Given the description of an element on the screen output the (x, y) to click on. 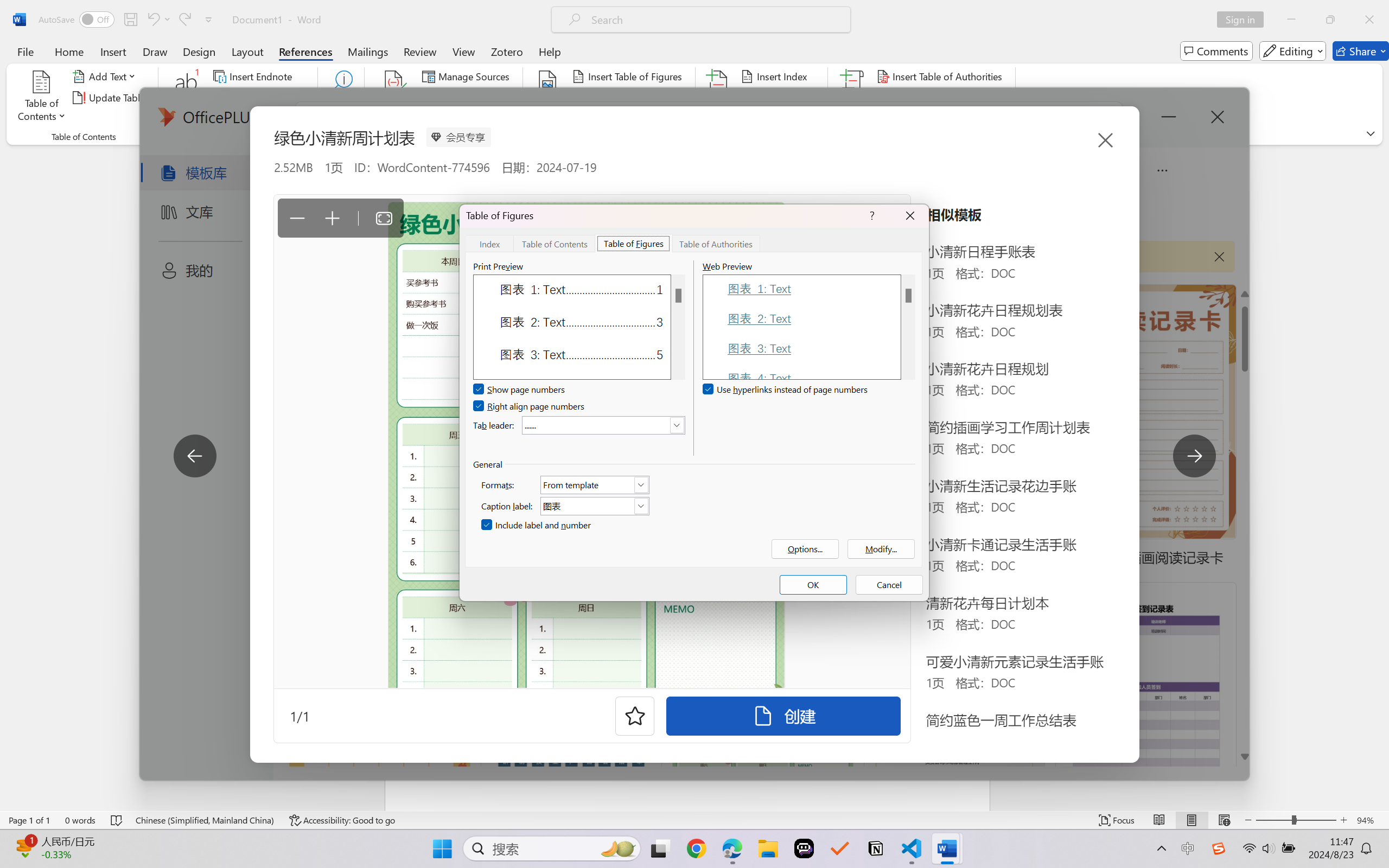
Tab leader: (603, 424)
Insert Footnote (186, 97)
Update Table... (110, 97)
Mark Entry... (718, 97)
Insert Table of Authorities... (941, 75)
Search (341, 97)
Include label and number (536, 525)
